Given the description of an element on the screen output the (x, y) to click on. 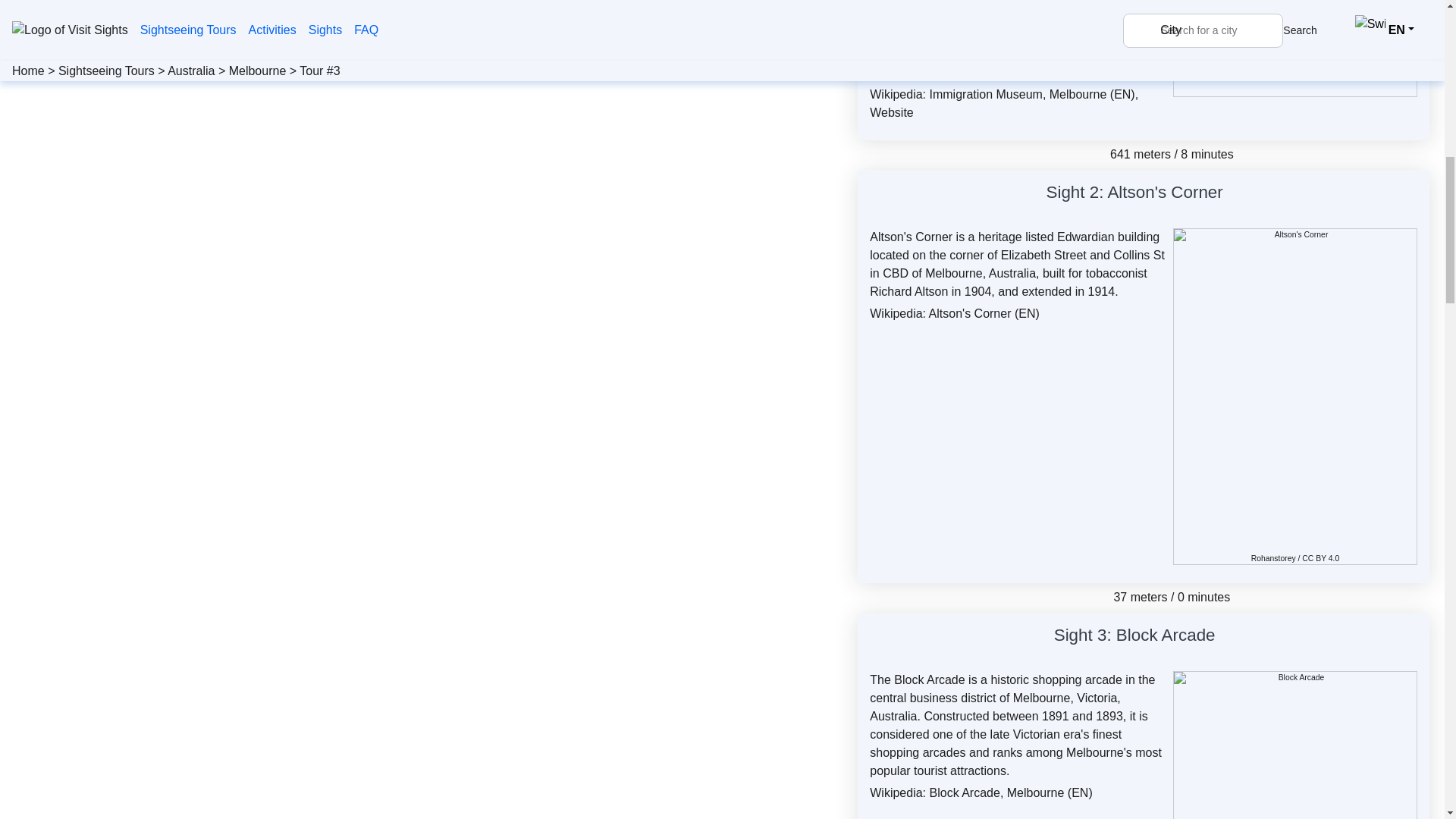
Show sight on map (1232, 194)
Show sight on map (1224, 637)
Rohanstorey (1272, 558)
User:Rohanstorey (1272, 558)
Website (891, 112)
CC BY 4.0 (1320, 558)
